Given the description of an element on the screen output the (x, y) to click on. 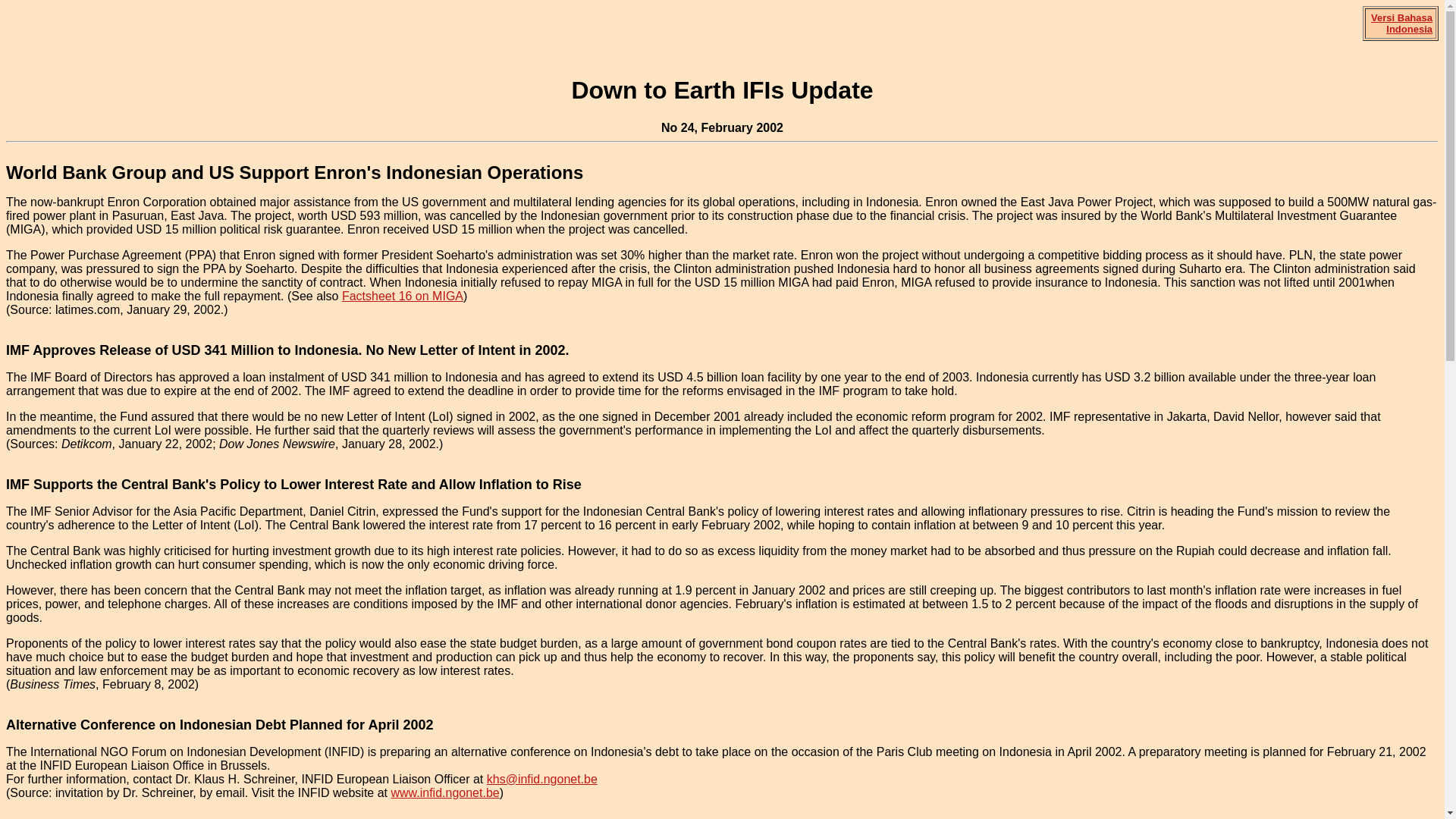
www.infid.ngonet.be (444, 792)
Factsheet 16 on MIGA (402, 295)
